Given the description of an element on the screen output the (x, y) to click on. 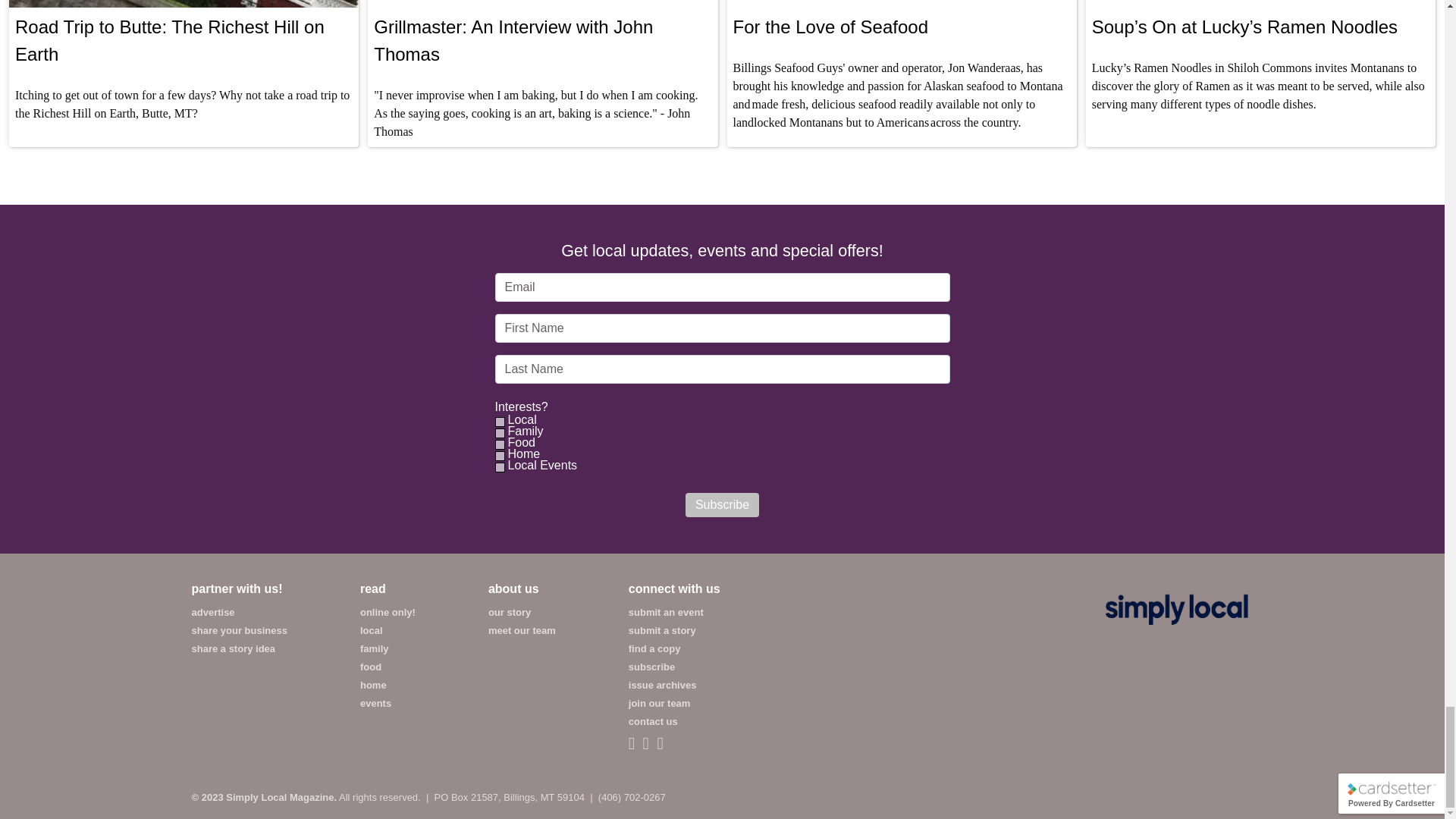
Food (520, 442)
Subscribe (721, 504)
Local Events (541, 465)
local (370, 630)
Local (499, 421)
Food (499, 444)
Home (522, 454)
Subscribe (721, 504)
share your business (238, 630)
Family (524, 431)
share a story idea (232, 648)
Local (521, 419)
online only! (386, 612)
